Given the description of an element on the screen output the (x, y) to click on. 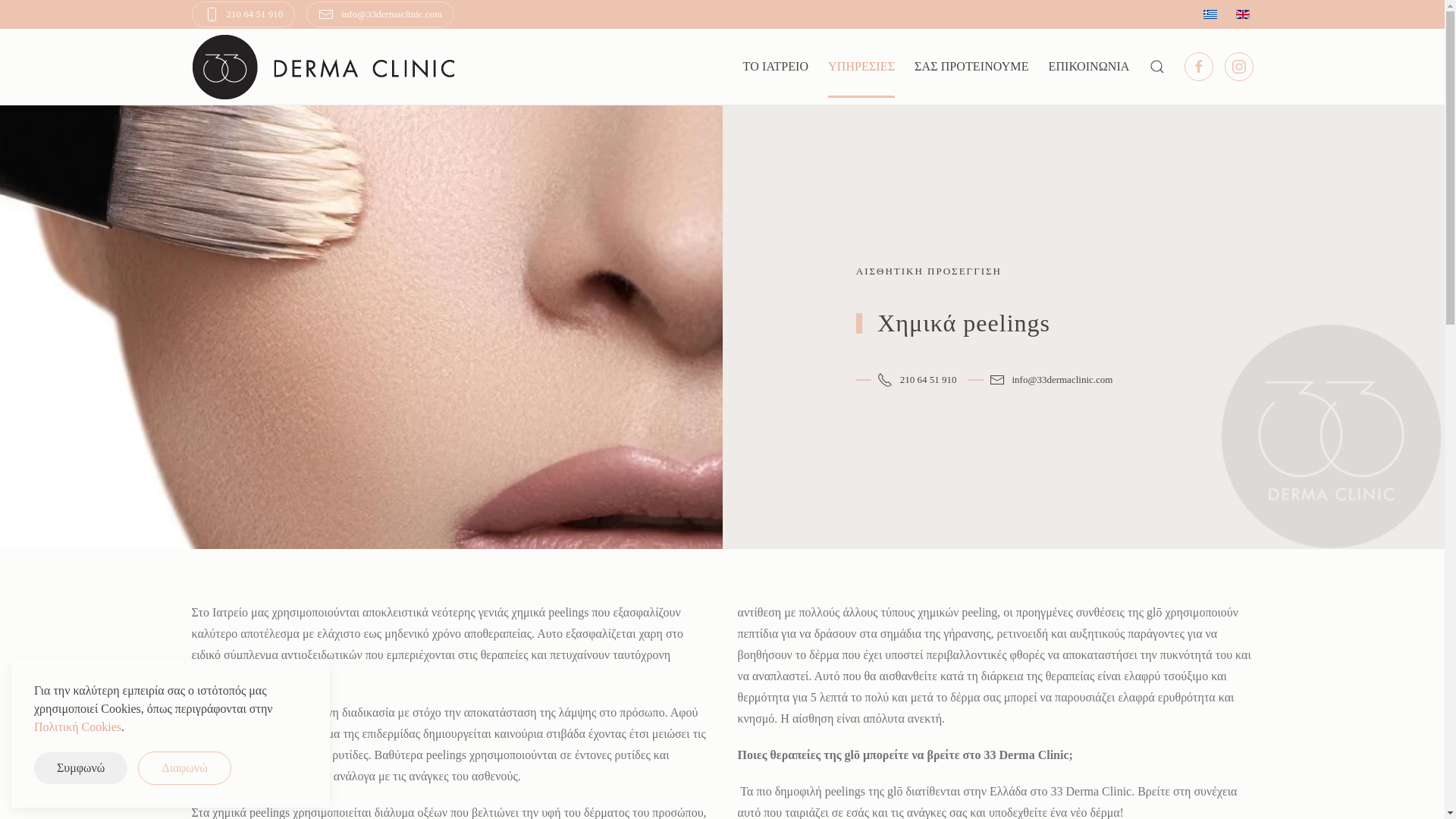
English (United Kingdom) Element type: hover (1242, 13)
info@33dermaclinic.com Element type: text (380, 14)
210 64 51 910 Element type: text (242, 14)
info@33dermaclinic.com Element type: text (1039, 380)
210 64 51 910 Element type: text (906, 380)
